Given the description of an element on the screen output the (x, y) to click on. 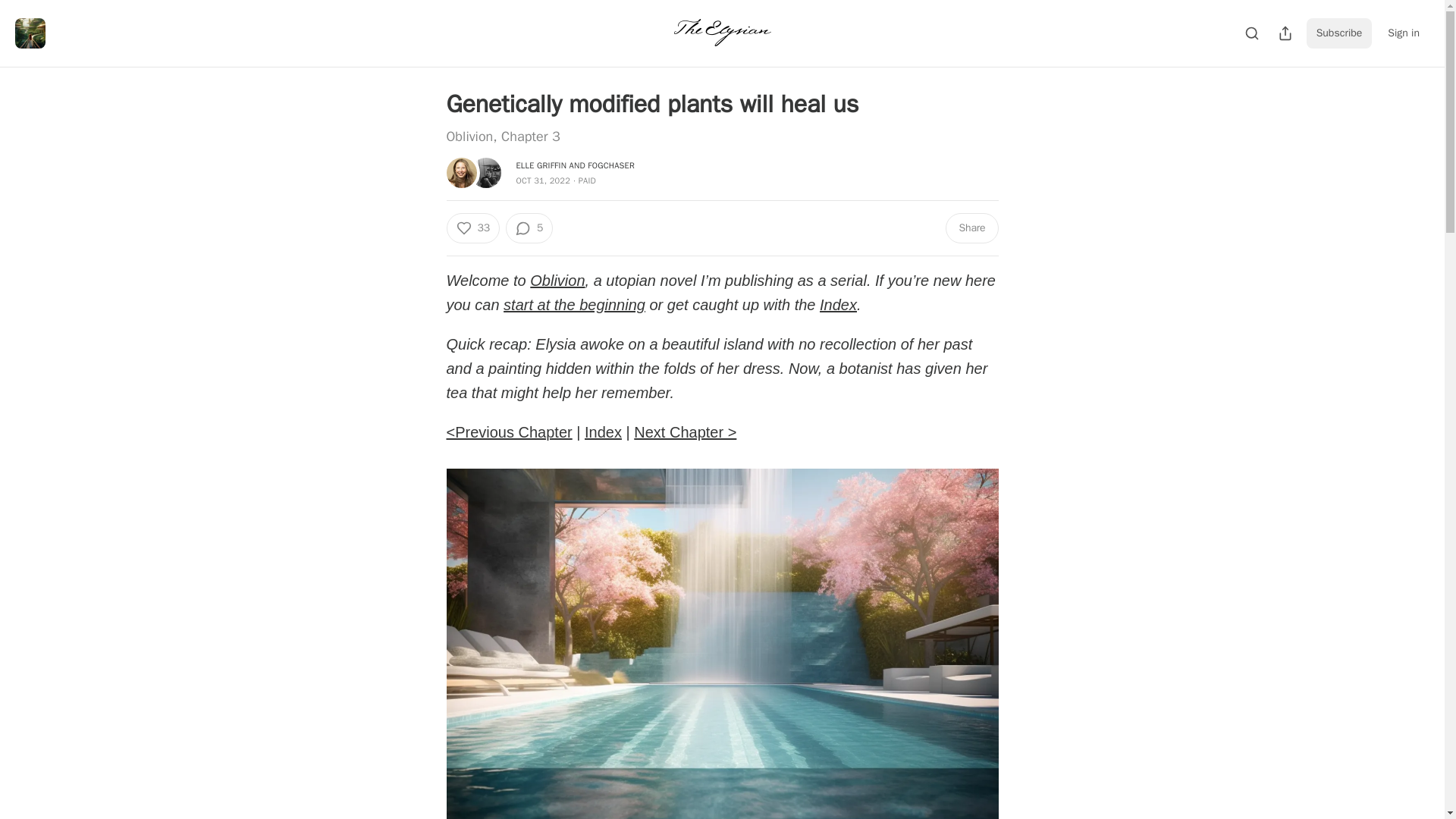
33 (472, 227)
ELLE GRIFFIN (540, 164)
5 (529, 227)
start at the beginning (574, 304)
Share (970, 227)
Index (603, 432)
Subscribe (1339, 33)
Index (838, 304)
FOGCHASER (611, 164)
Oblivion (557, 280)
